Given the description of an element on the screen output the (x, y) to click on. 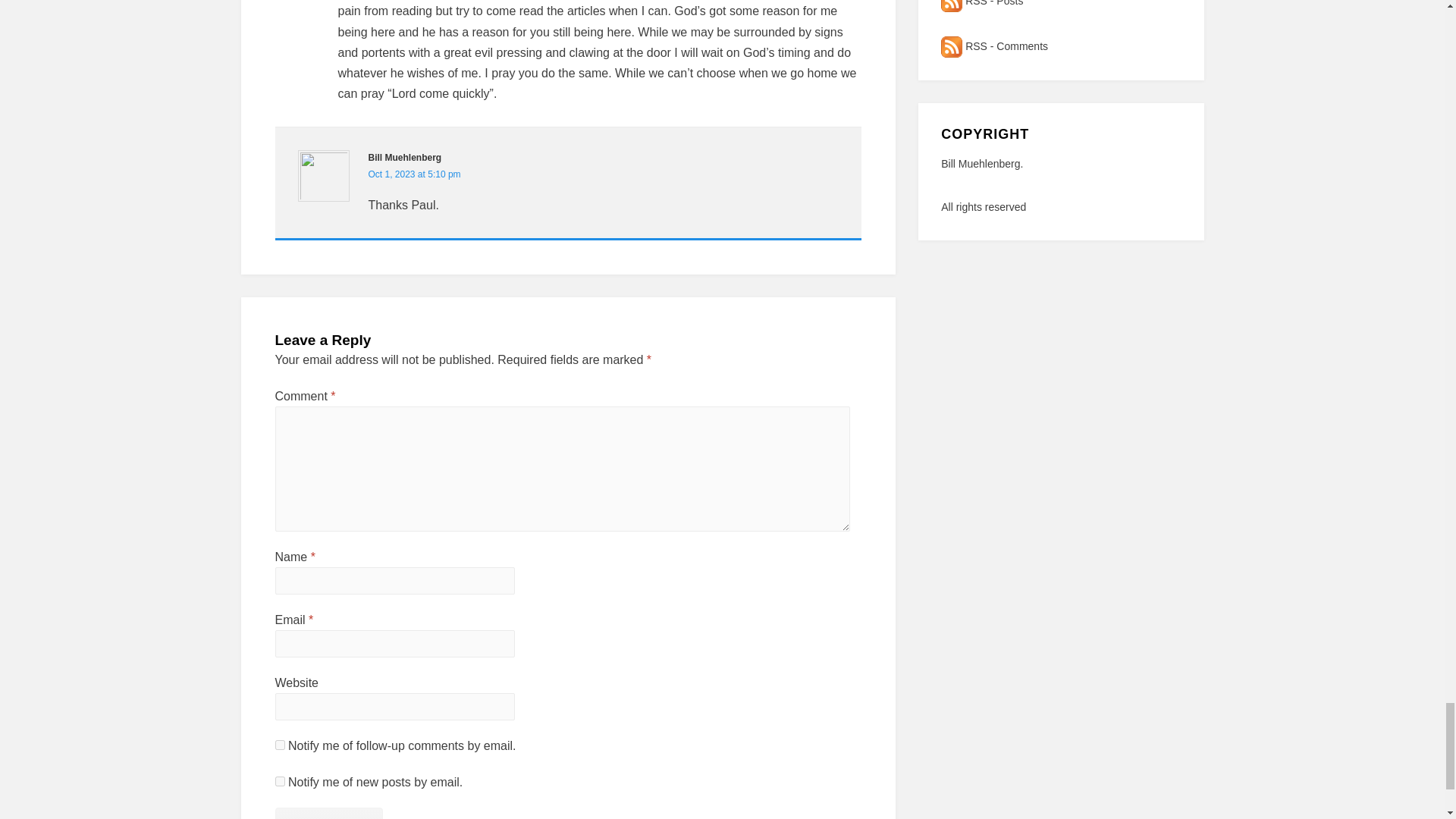
subscribe (279, 745)
Post Comment (328, 813)
subscribe (279, 781)
